Given the description of an element on the screen output the (x, y) to click on. 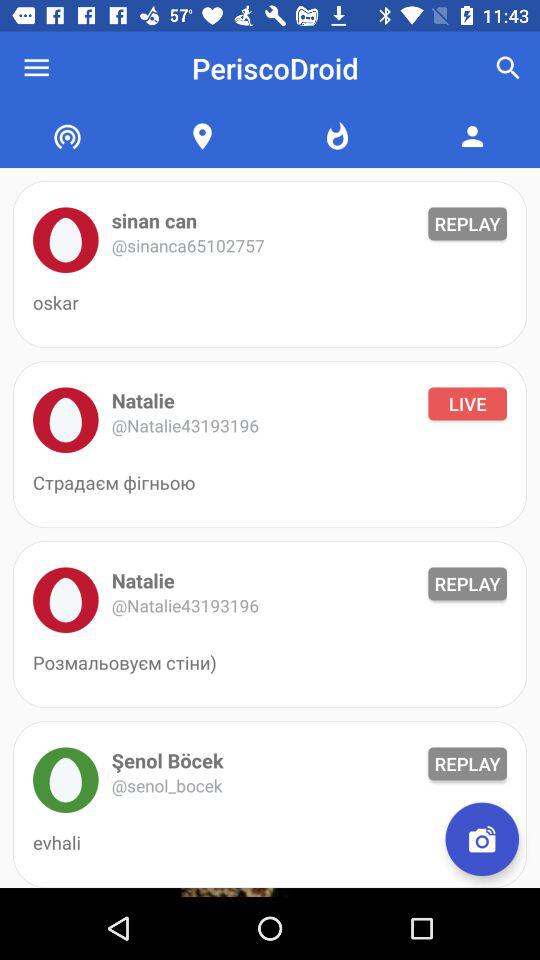
view profile picture (65, 420)
